Given the description of an element on the screen output the (x, y) to click on. 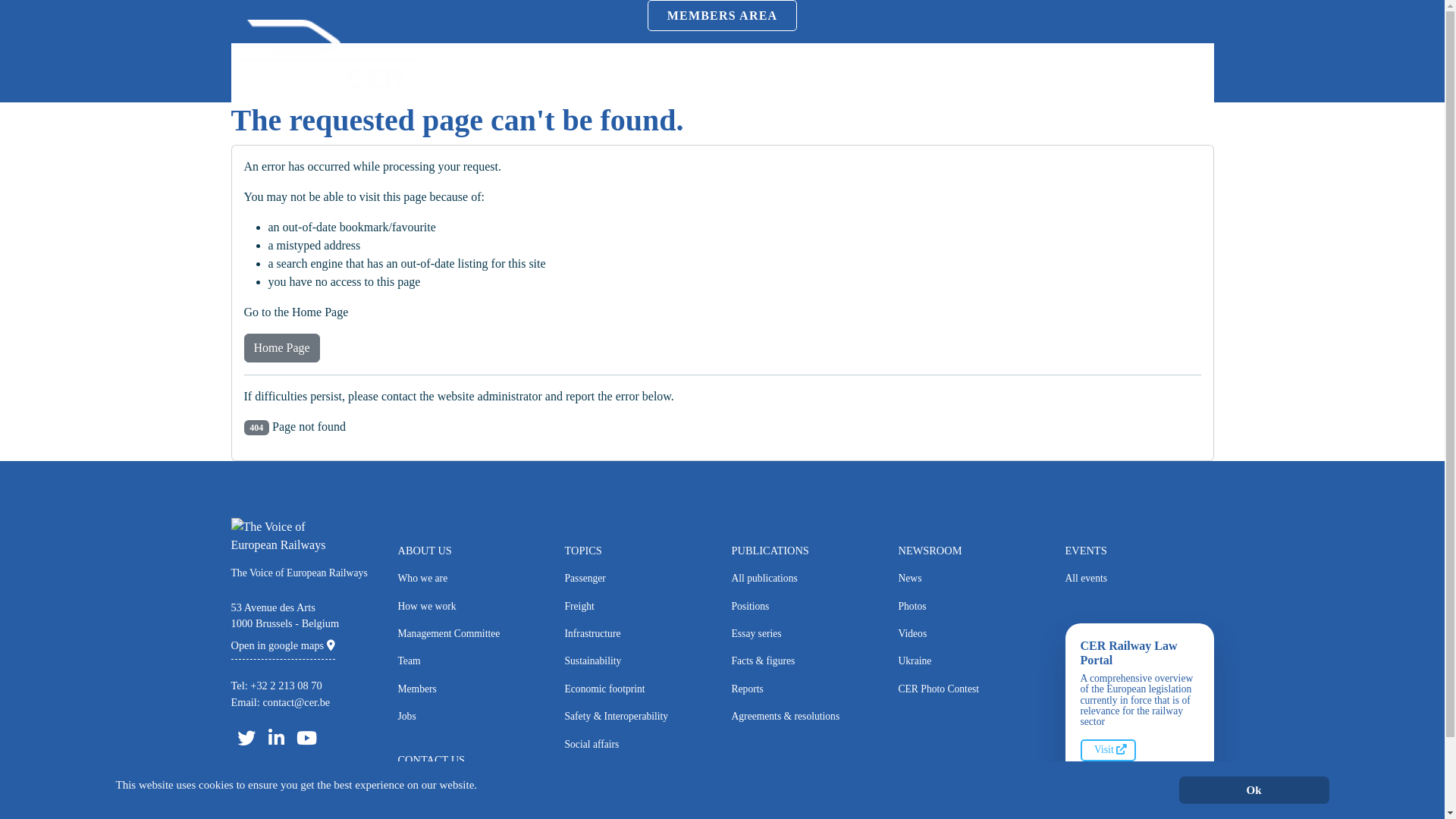
e.dso twitter Element type: hover (245, 737)
Freight Element type: text (638, 606)
Reports Element type: text (805, 689)
Tel: +32 2 213 08 70 Element type: text (275, 685)
MEMBERS AREA Element type: text (722, 15)
Agreements & resolutions Element type: text (805, 716)
Management Committee Element type: text (471, 633)
About Us Element type: text (697, 72)
Team Element type: text (471, 661)
CER Photo Contest Element type: text (971, 689)
Topics Element type: text (751, 72)
Ok Element type: text (1253, 790)
Facts & figures Element type: text (805, 661)
Essay series Element type: text (805, 633)
Videos Element type: text (971, 633)
Who we are Element type: text (471, 578)
e.dso youtube Element type: hover (306, 737)
All events Element type: text (1138, 578)
Publications Element type: text (812, 72)
Jobs Element type: text (471, 716)
Members Element type: text (471, 689)
Newsroom Element type: text (884, 72)
EU & Sector Initiatives Element type: text (638, 771)
Sustainability Element type: text (638, 661)
Positions Element type: text (805, 606)
Photos Element type: text (971, 606)
  Visit Element type: text (1107, 749)
Infrastructure Element type: text (638, 633)
Contact Us Element type: text (471, 787)
Passenger Element type: text (638, 578)
Social affairs Element type: text (638, 744)
Email: contact@cer.be Element type: text (279, 702)
Events Element type: text (943, 72)
Ukraine Element type: text (971, 661)
e.dso linkedin Element type: hover (275, 737)
All publications Element type: text (805, 578)
Open in google maps Element type: text (282, 645)
Home Page Element type: text (282, 347)
How we work Element type: text (471, 606)
Economic footprint Element type: text (638, 689)
Safety & Interoperability Element type: text (638, 716)
News Element type: text (971, 578)
